Given the description of an element on the screen output the (x, y) to click on. 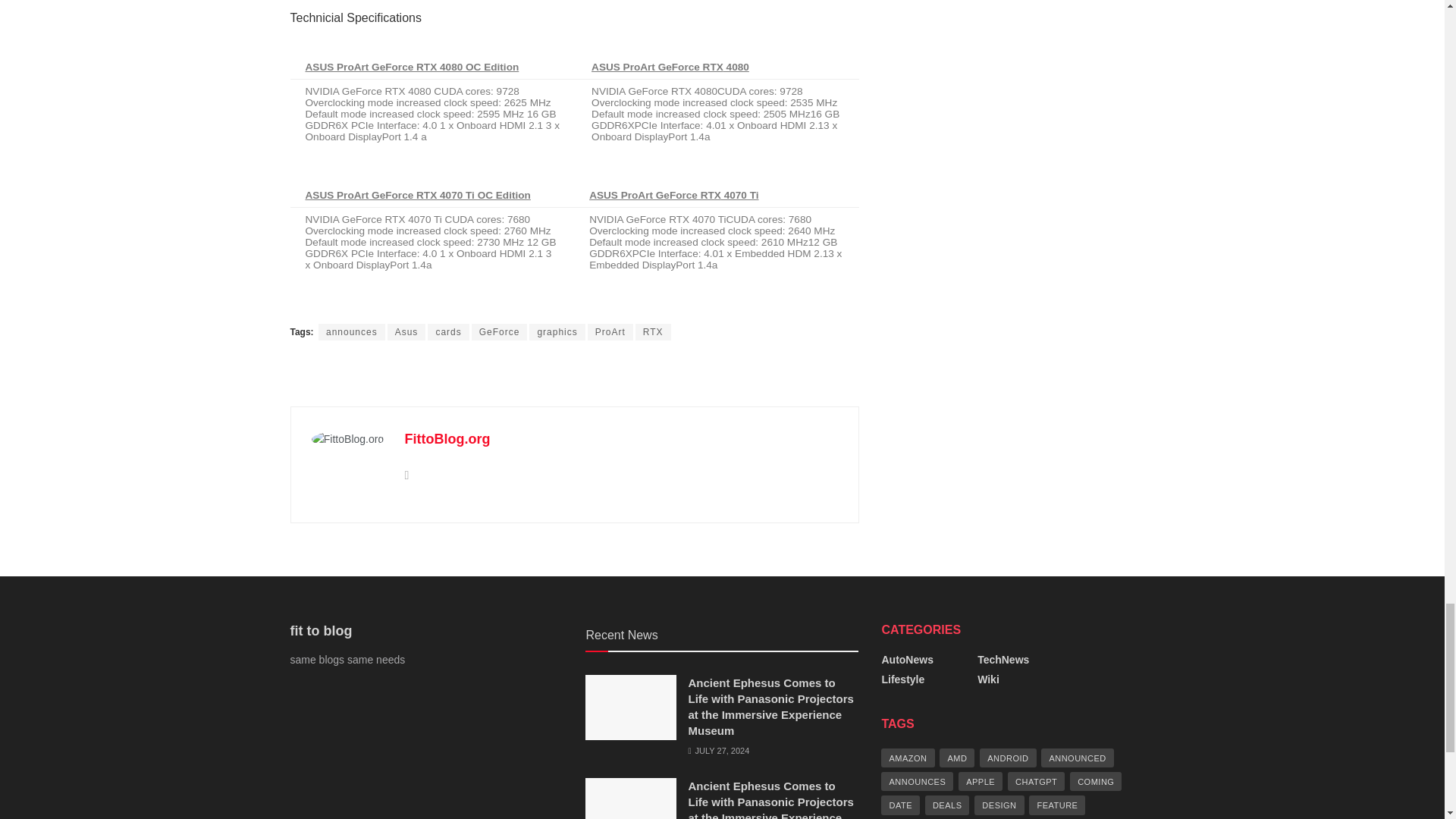
graphics (557, 331)
announces (351, 331)
Asus (406, 331)
FittoBlog.org (447, 438)
cards (448, 331)
RTX (652, 331)
ProArt (610, 331)
GeForce (499, 331)
